Given the description of an element on the screen output the (x, y) to click on. 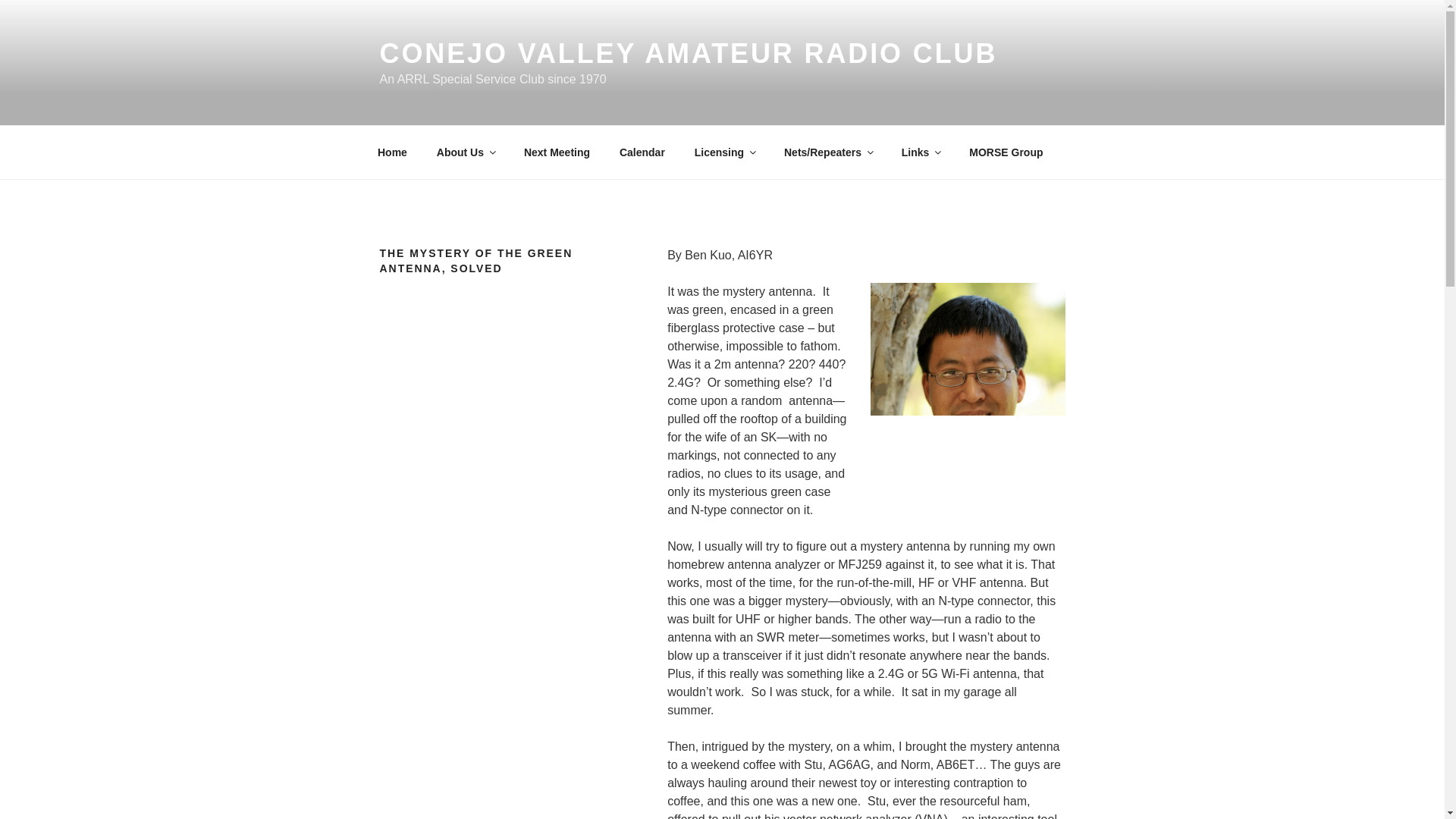
Calendar (641, 151)
Next Meeting (556, 151)
MORSE Group (1006, 151)
Home (392, 151)
About Us (464, 151)
Licensing (724, 151)
Links (920, 151)
CONEJO VALLEY AMATEUR RADIO CLUB (687, 52)
